Given the description of an element on the screen output the (x, y) to click on. 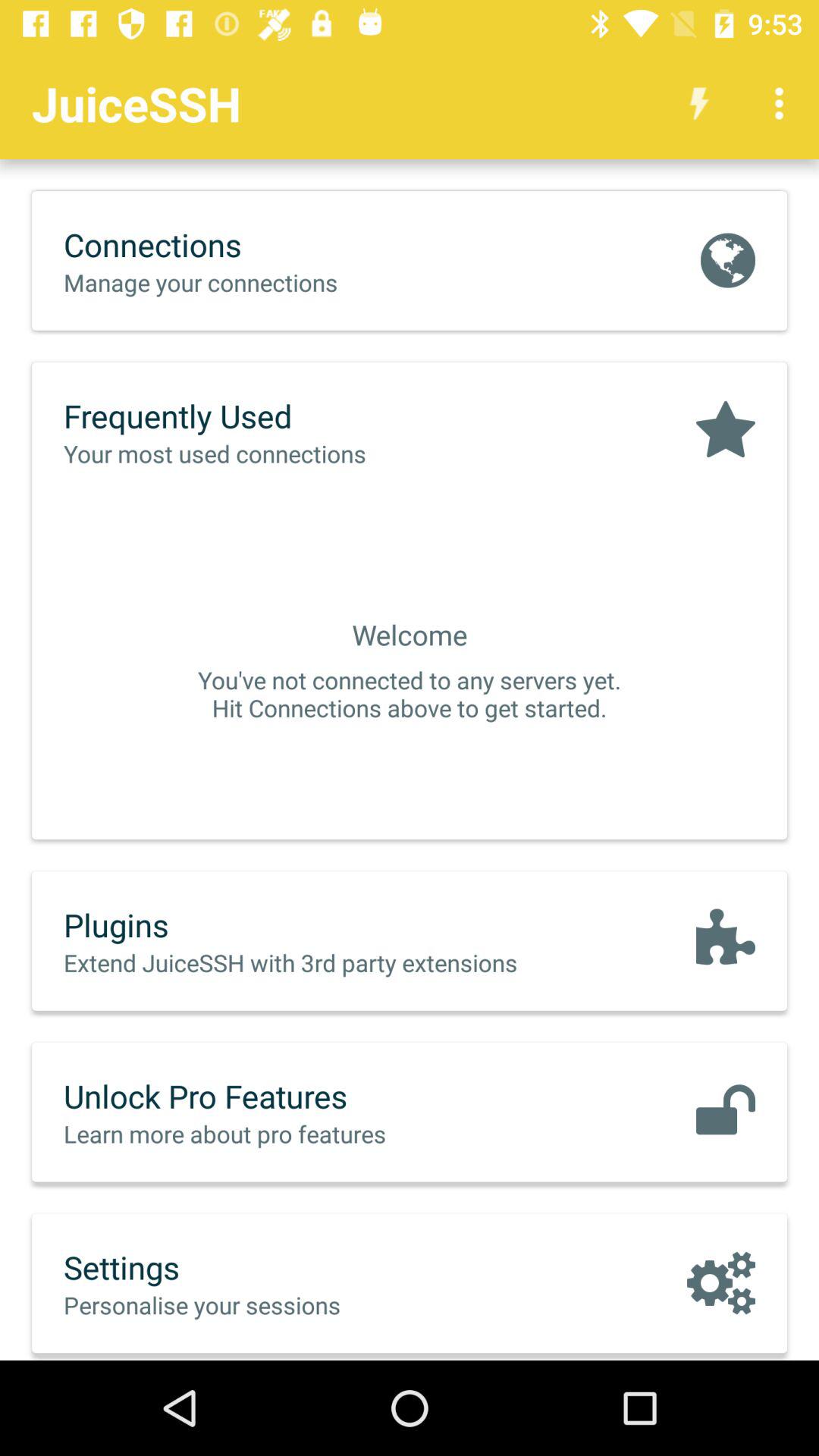
turn off item to the right of frequently used item (725, 431)
